Given the description of an element on the screen output the (x, y) to click on. 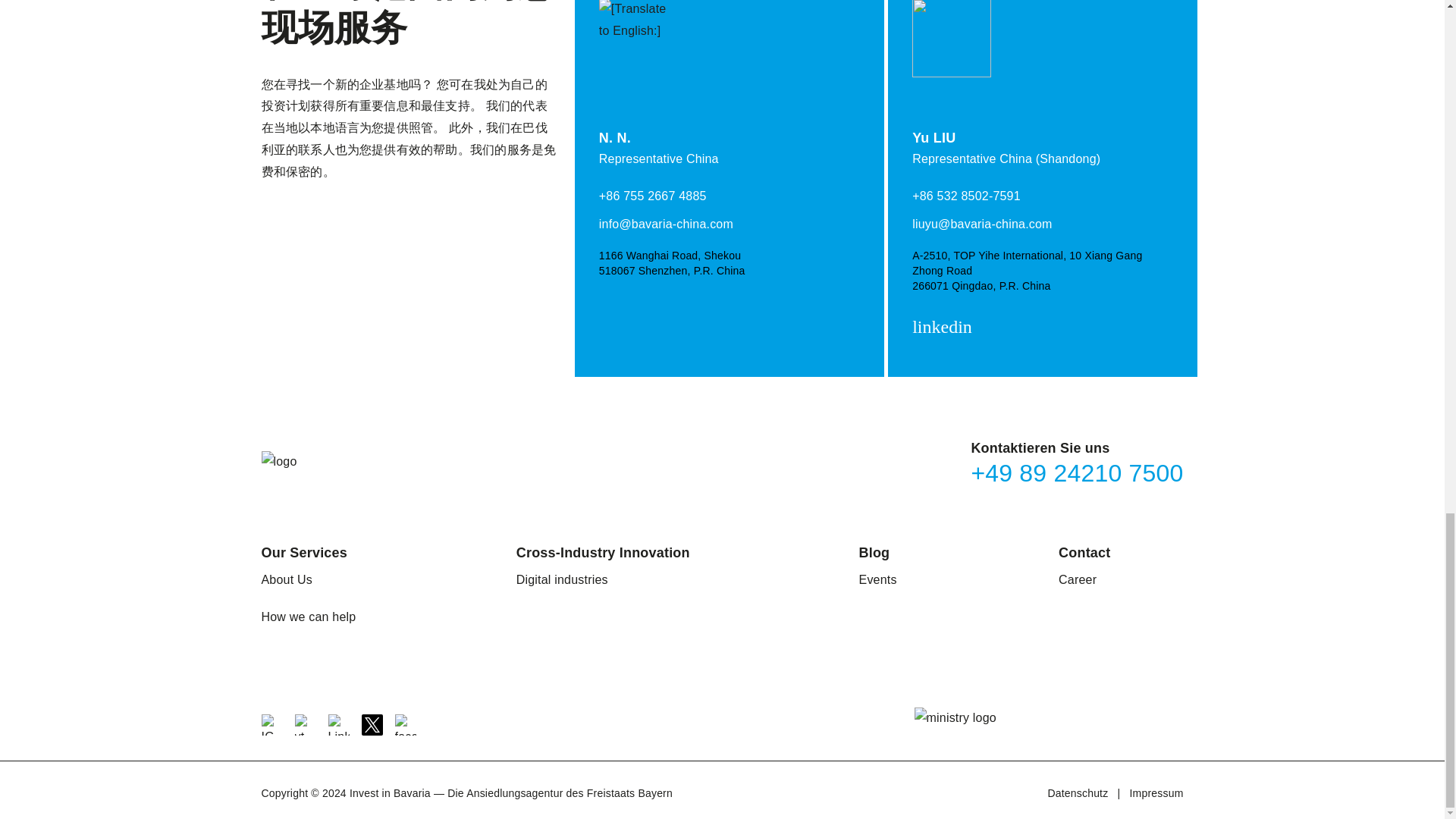
Our Services (303, 552)
About Us (285, 580)
How we can help (307, 617)
linkedin (945, 328)
